Given the description of an element on the screen output the (x, y) to click on. 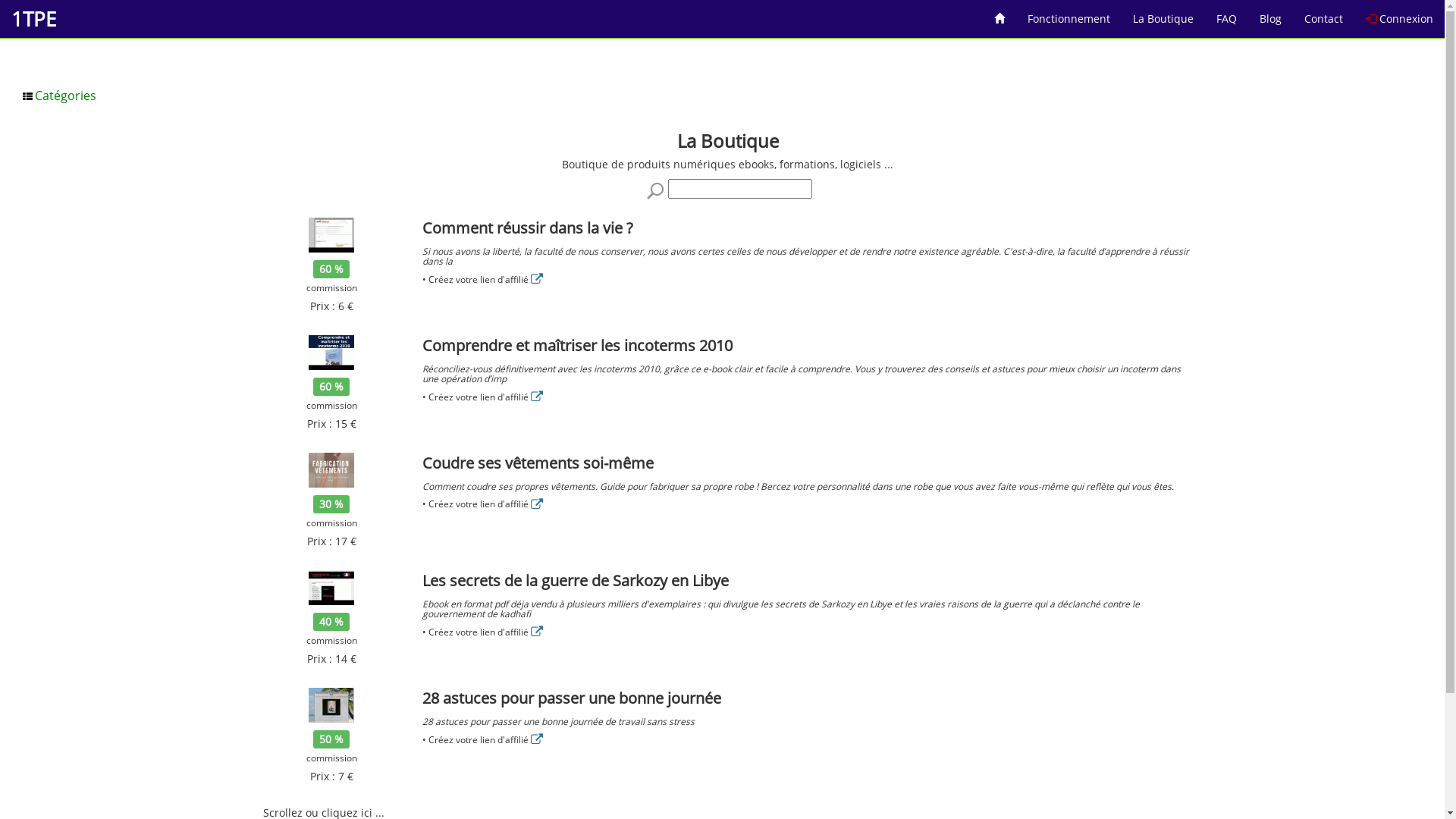
La Boutique Element type: text (1162, 13)
Contact Element type: text (1323, 13)
Blog Element type: text (1270, 13)
FAQ Element type: text (1226, 13)
Connexion Element type: text (1399, 13)
1TPE Element type: text (33, 18)
Fonctionnement Element type: text (1068, 13)
